Given the description of an element on the screen output the (x, y) to click on. 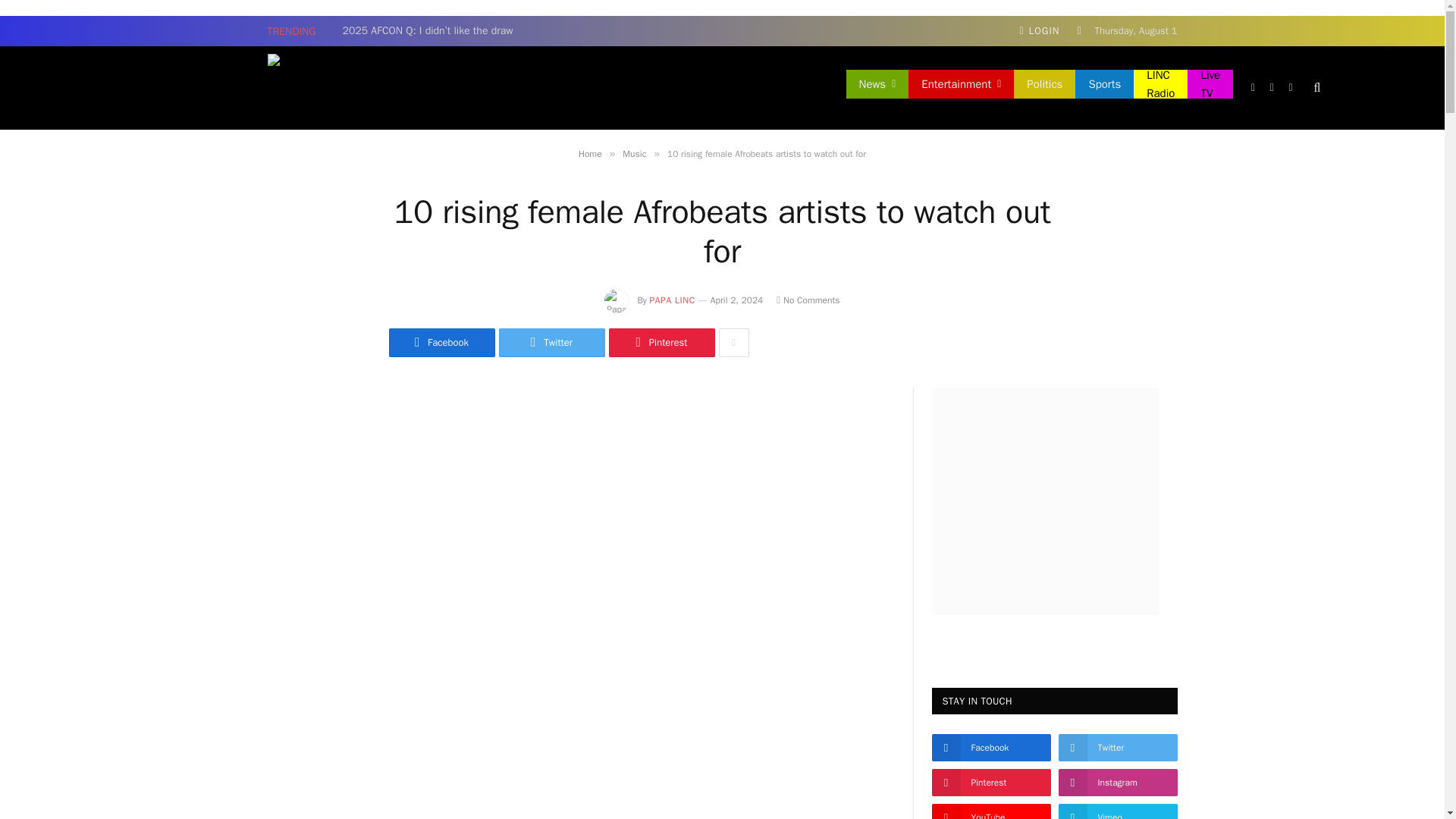
Entertainment (960, 84)
LINC Radio (1161, 84)
Politics (1044, 84)
Share on Facebook (441, 342)
News (876, 84)
Live TV (1210, 84)
Sports (1104, 84)
LOGIN (1039, 30)
Switch to Dark Design - easier on eyes. (1078, 30)
MC PAPA LINC (542, 87)
Share on Pinterest (661, 342)
Posts by Papa Linc (671, 300)
